Given the description of an element on the screen output the (x, y) to click on. 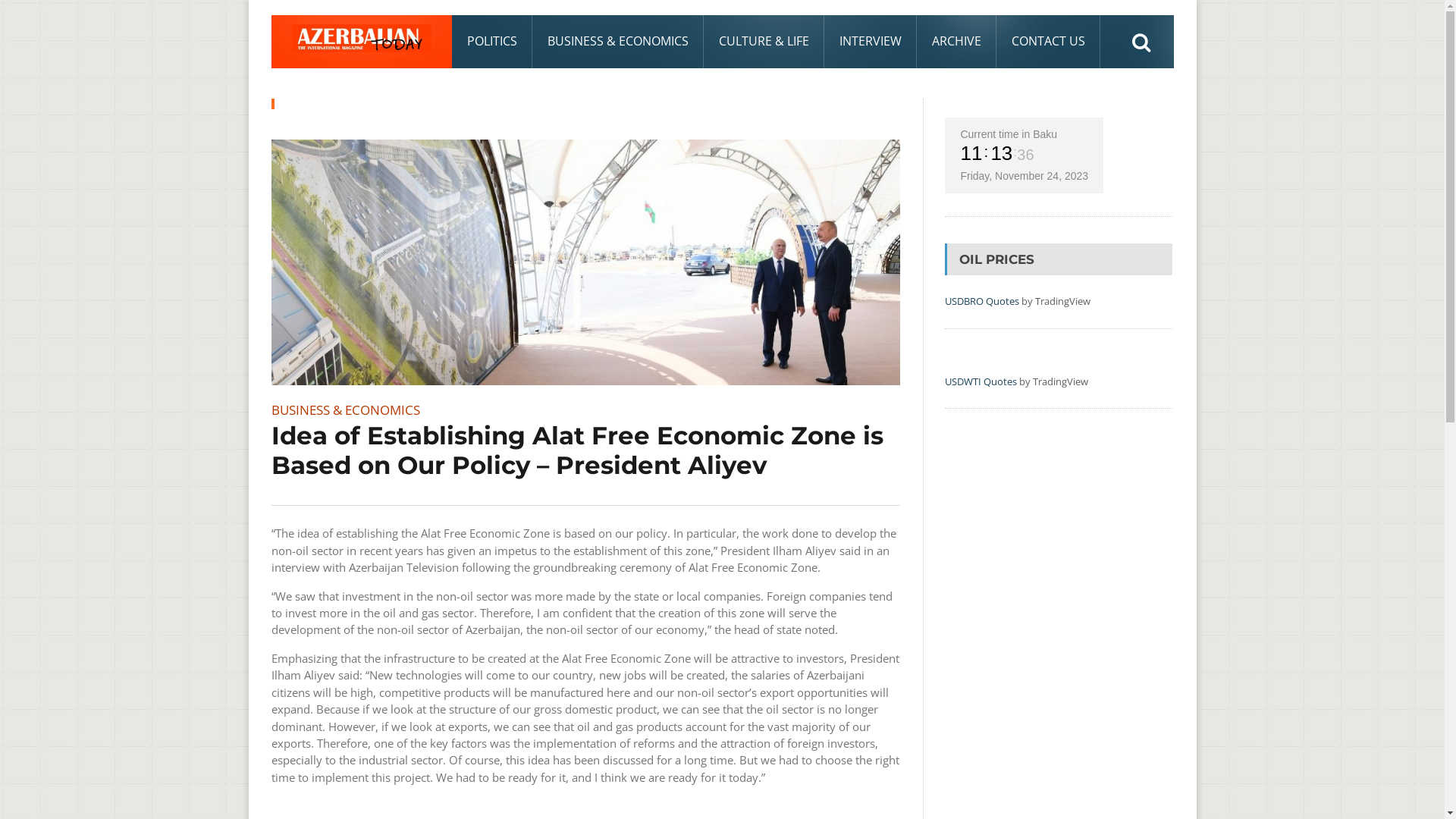
CONTACT US Element type: text (1048, 41)
ARCHIVE Element type: text (955, 41)
BUSINESS & ECONOMICS Element type: text (617, 41)
Search Element type: text (1140, 42)
BUSINESS & ECONOMICS Element type: text (345, 409)
POLITICS Element type: text (491, 41)
CULTURE & LIFE Element type: text (763, 41)
Current time in Baku Element type: text (1008, 134)
USDWTI Quotes Element type: text (980, 381)
INTERVIEW Element type: text (869, 41)
USDBRO Quotes Element type: text (981, 300)
